Given the description of an element on the screen output the (x, y) to click on. 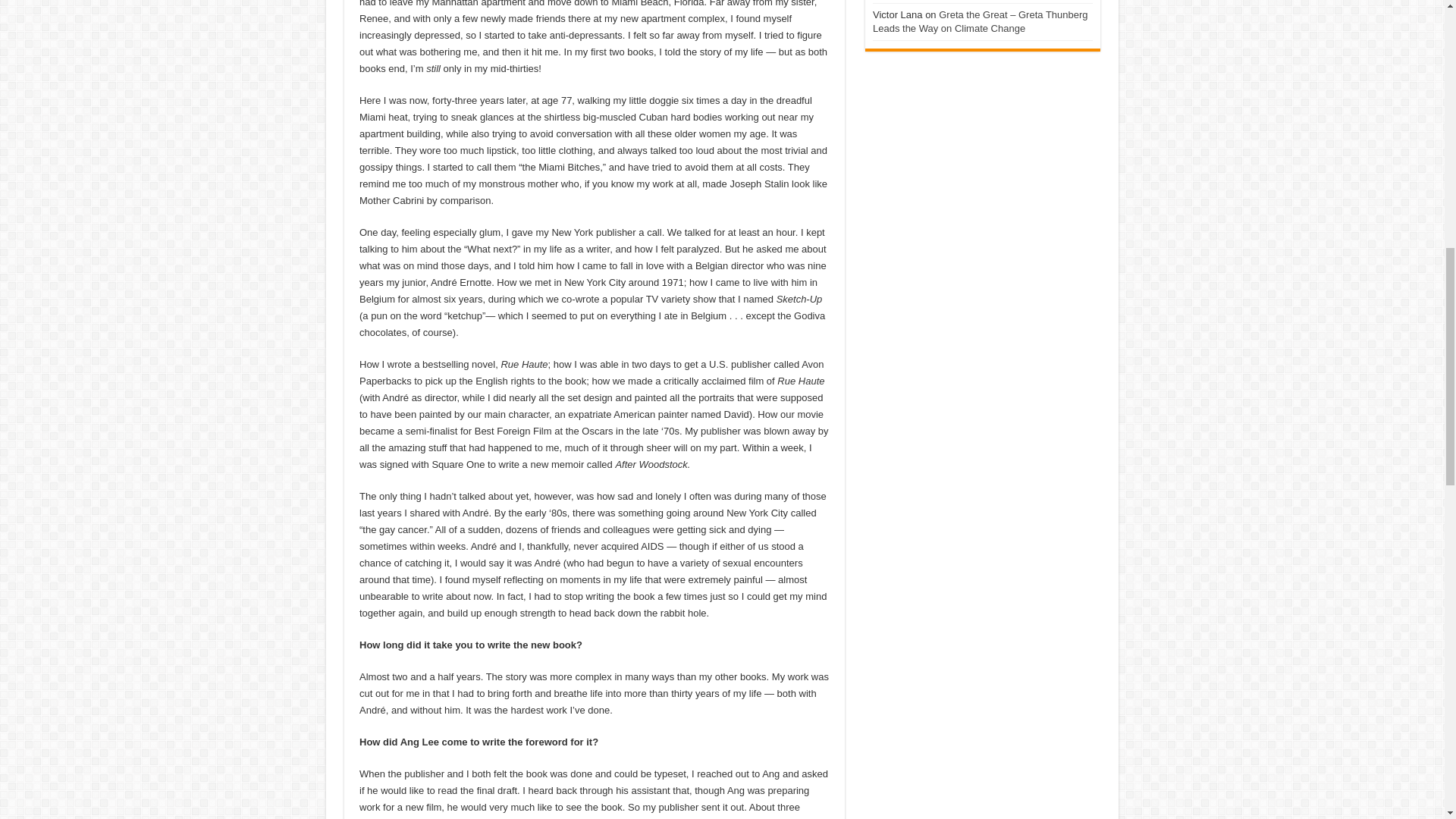
Scroll To Top (1421, 60)
